Given the description of an element on the screen output the (x, y) to click on. 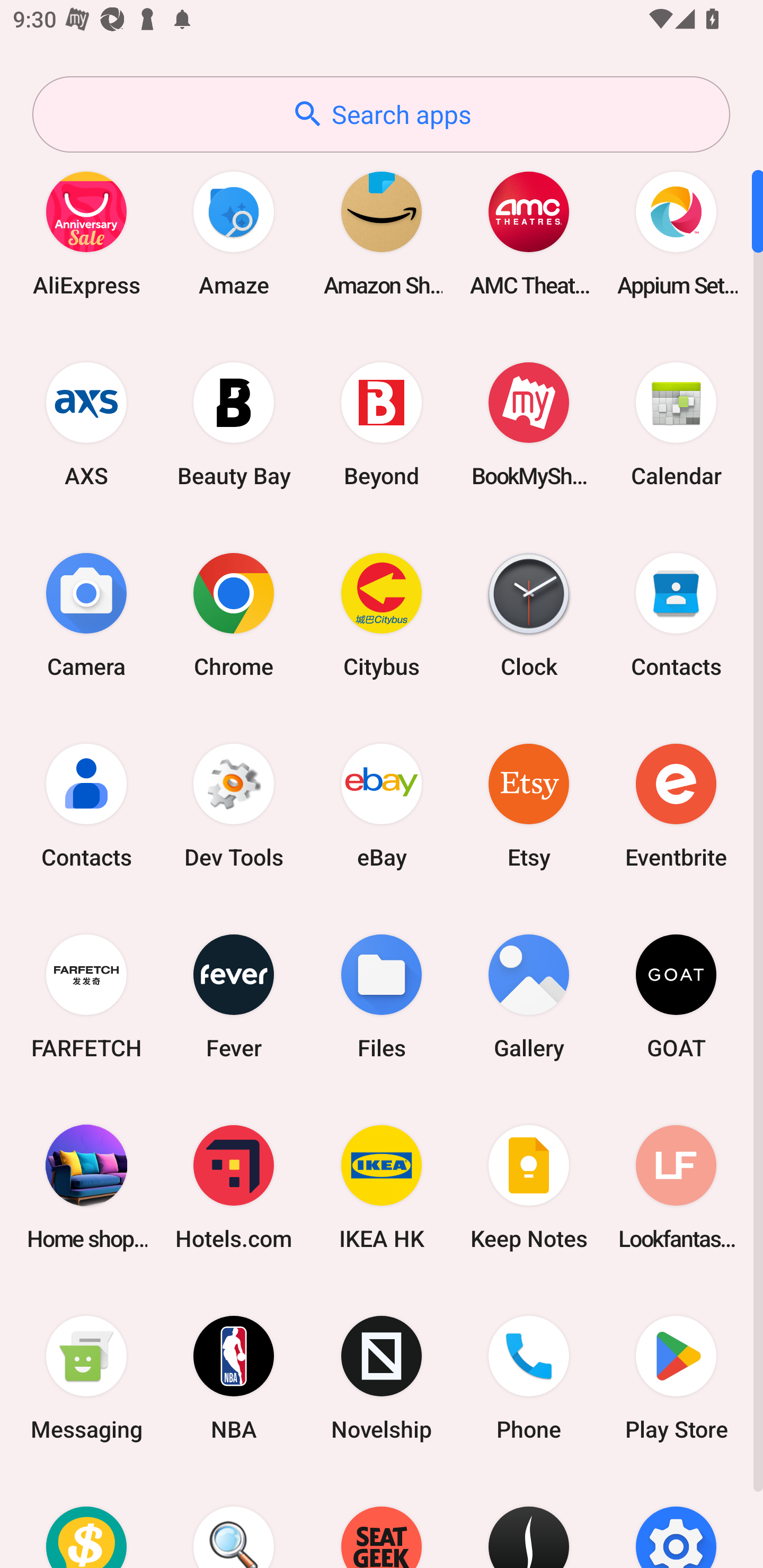
  Search apps (381, 114)
AliExpress (86, 233)
Amaze (233, 233)
Amazon Shopping (381, 233)
AMC Theatres (528, 233)
Appium Settings (676, 233)
AXS (86, 424)
Beauty Bay (233, 424)
Beyond (381, 424)
BookMyShow (528, 424)
Calendar (676, 424)
Camera (86, 614)
Chrome (233, 614)
Citybus (381, 614)
Clock (528, 614)
Contacts (676, 614)
Contacts (86, 805)
Dev Tools (233, 805)
eBay (381, 805)
Etsy (528, 805)
Eventbrite (676, 805)
FARFETCH (86, 996)
Fever (233, 996)
Files (381, 996)
Gallery (528, 996)
GOAT (676, 996)
Home shopping (86, 1186)
Hotels.com (233, 1186)
IKEA HK (381, 1186)
Keep Notes (528, 1186)
Lookfantastic (676, 1186)
Messaging (86, 1377)
NBA (233, 1377)
Novelship (381, 1377)
Phone (528, 1377)
Play Store (676, 1377)
